Given the description of an element on the screen output the (x, y) to click on. 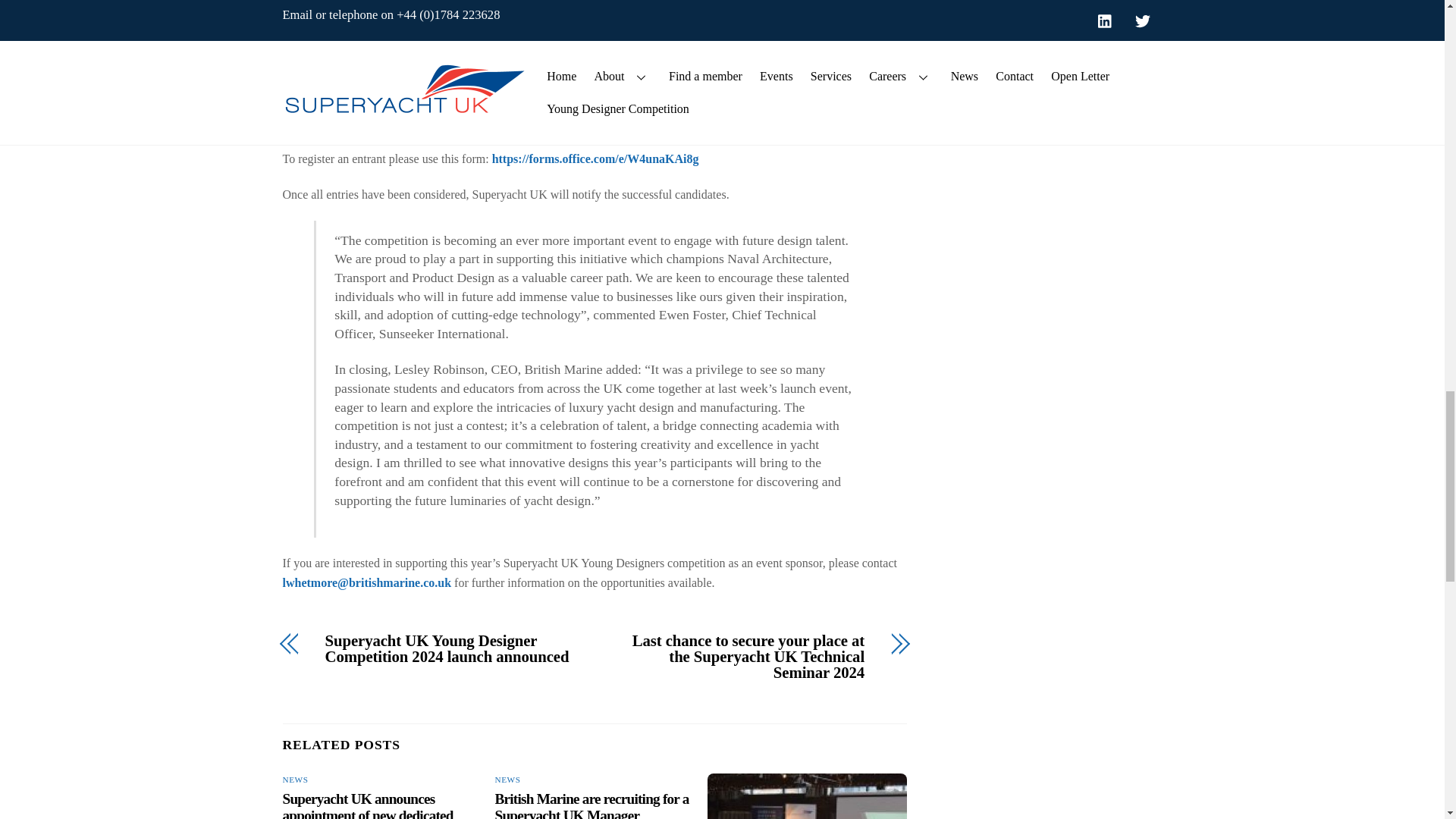
SYUK tech seminar (807, 796)
